Given the description of an element on the screen output the (x, y) to click on. 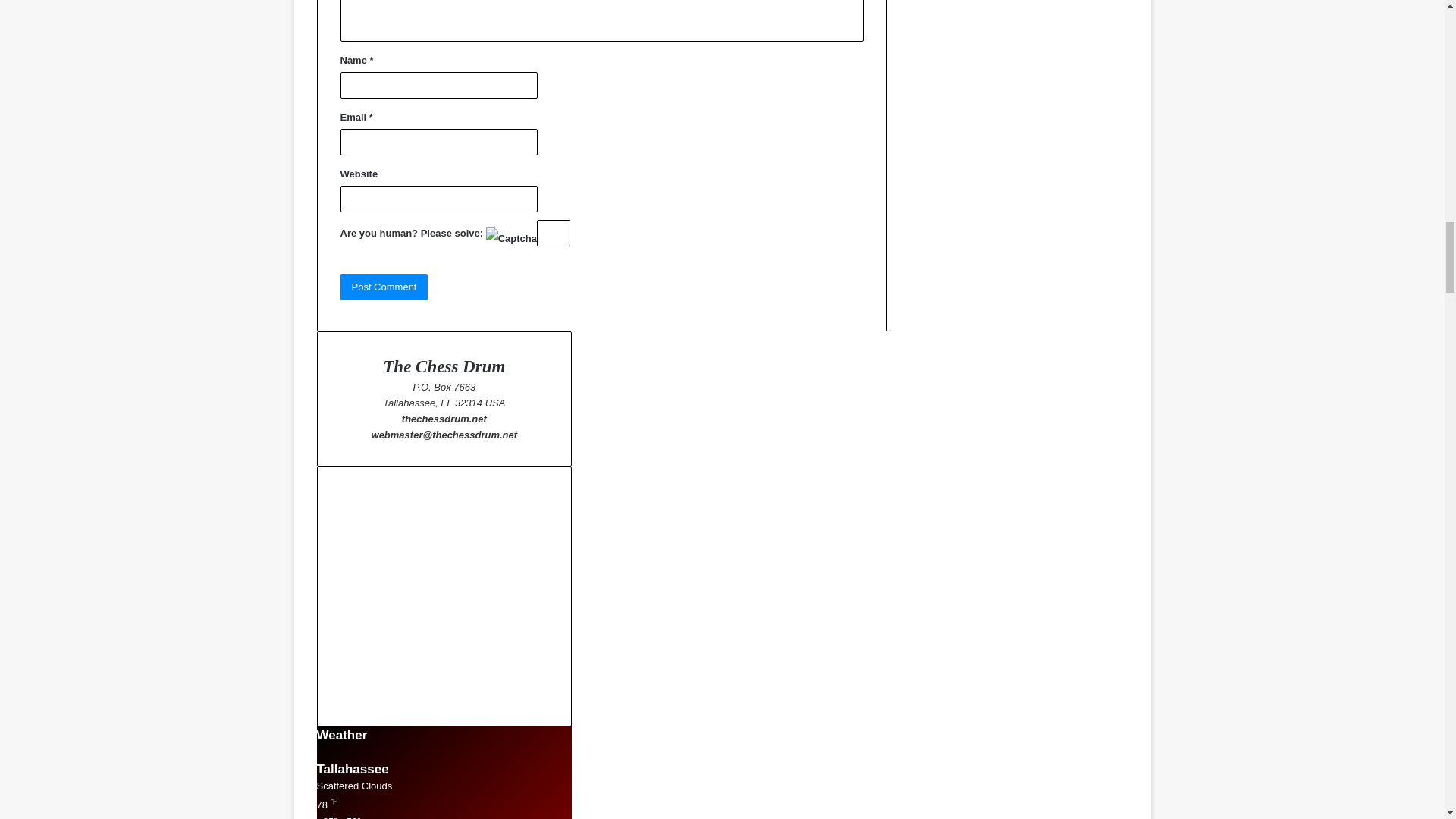
Post Comment (383, 286)
